Given the description of an element on the screen output the (x, y) to click on. 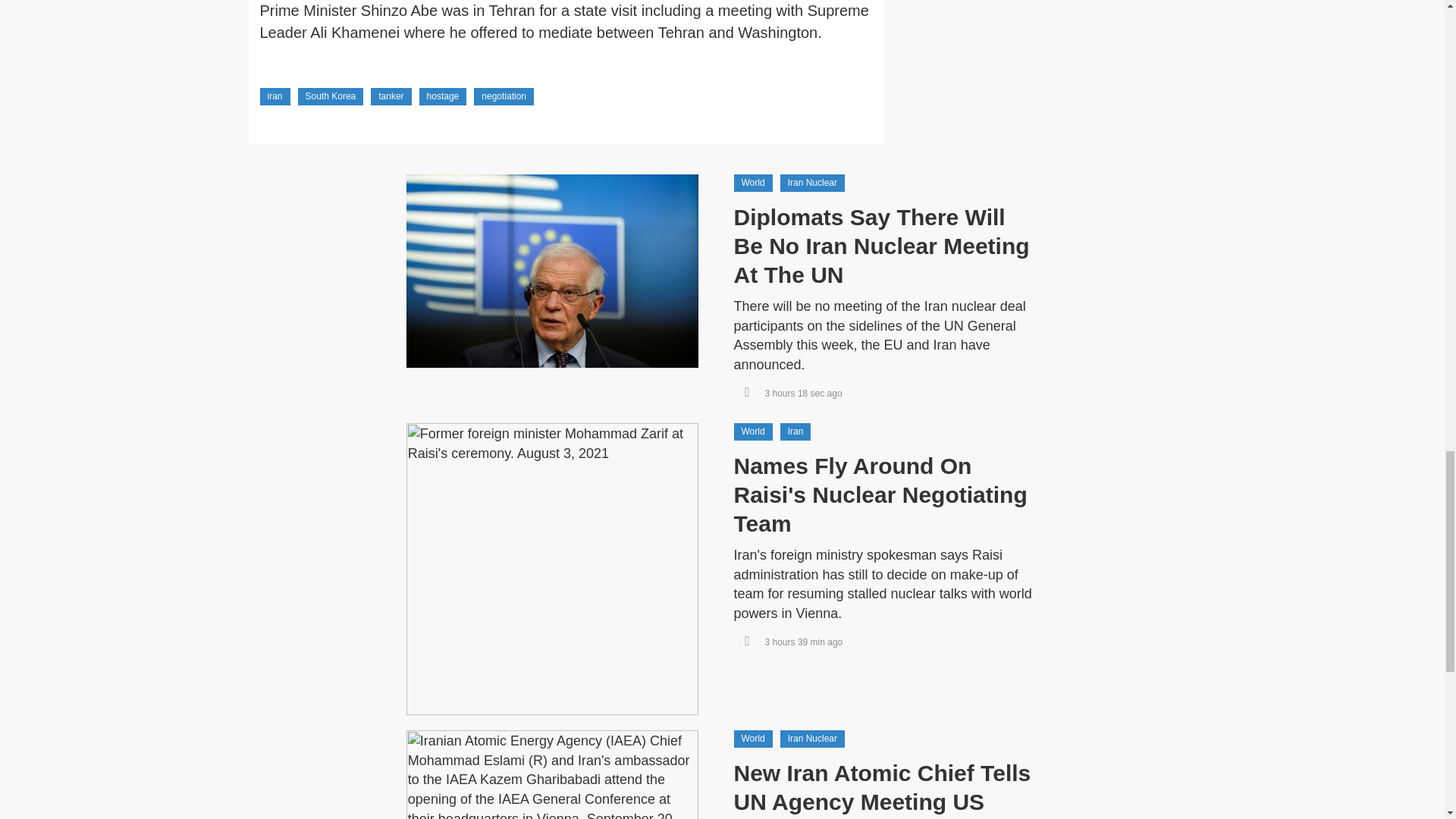
iran (274, 95)
negotiation (503, 95)
tanker (390, 95)
hostage (443, 95)
South Korea (330, 95)
